Given the description of an element on the screen output the (x, y) to click on. 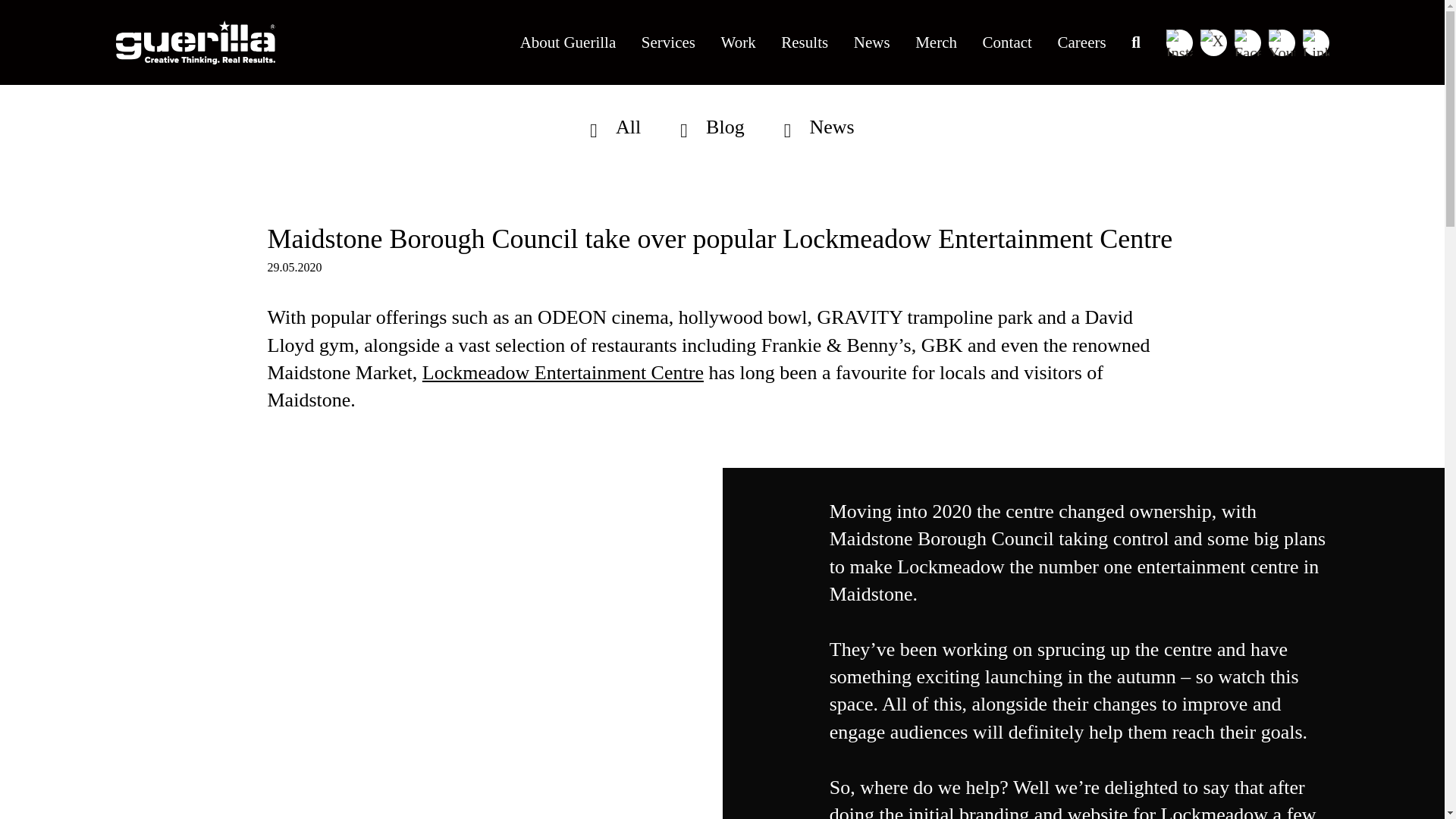
Find us on Facebook (1247, 41)
Follow us on Instagram (1179, 41)
Follow us on LinkedIn (1316, 41)
Subscribe to us on YouTube (1281, 41)
About Guerilla (567, 42)
Follow us on Twitter (1212, 41)
